Given the description of an element on the screen output the (x, y) to click on. 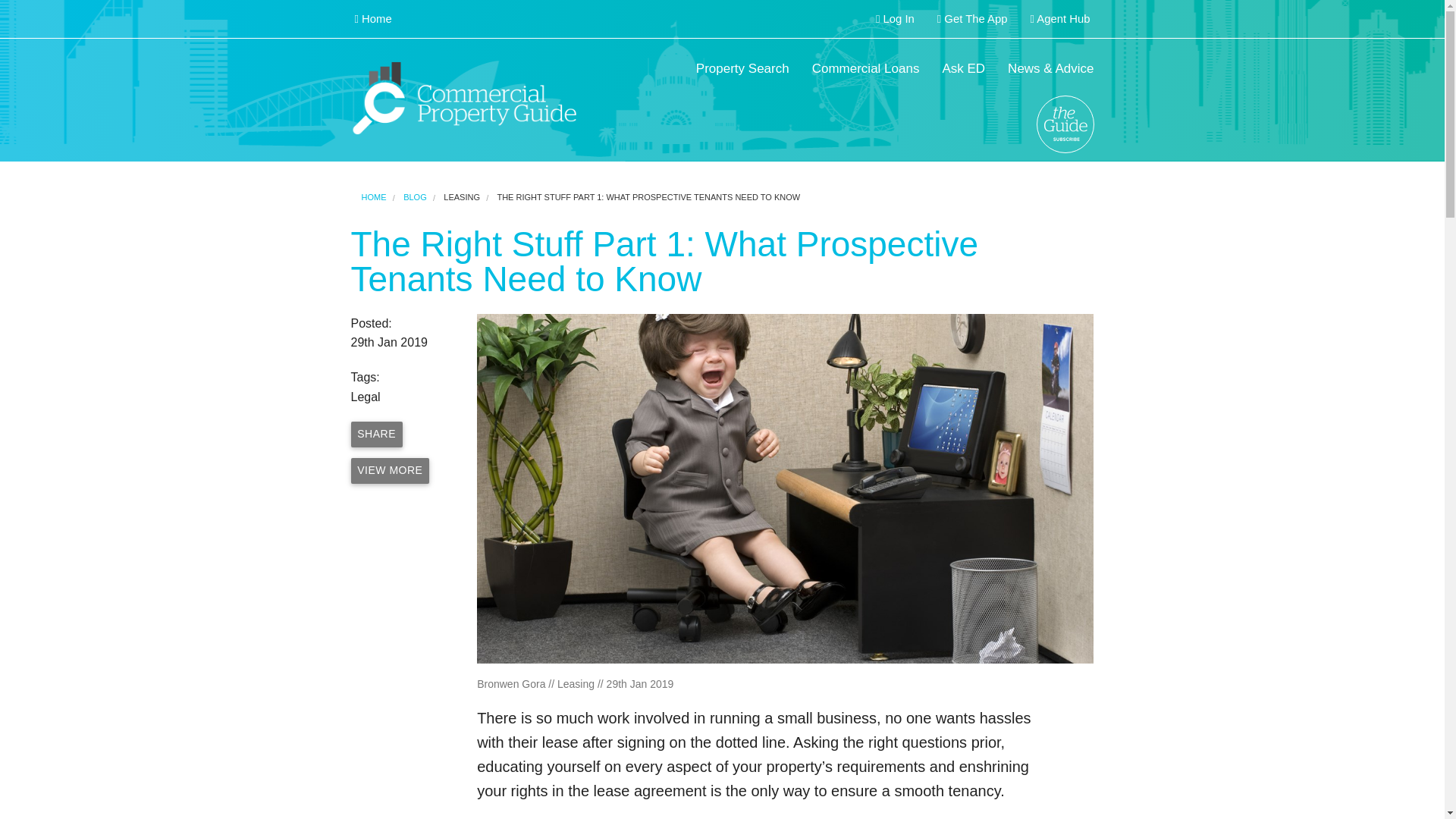
Commercial Loans (865, 69)
VIEW MORE (389, 470)
Get The App (972, 19)
Ask ED (962, 69)
Home (372, 19)
BLOG (414, 196)
Property Search (742, 69)
Agent Hub (1060, 19)
SHARE (376, 434)
Log In (895, 19)
HOME (373, 196)
